Given the description of an element on the screen output the (x, y) to click on. 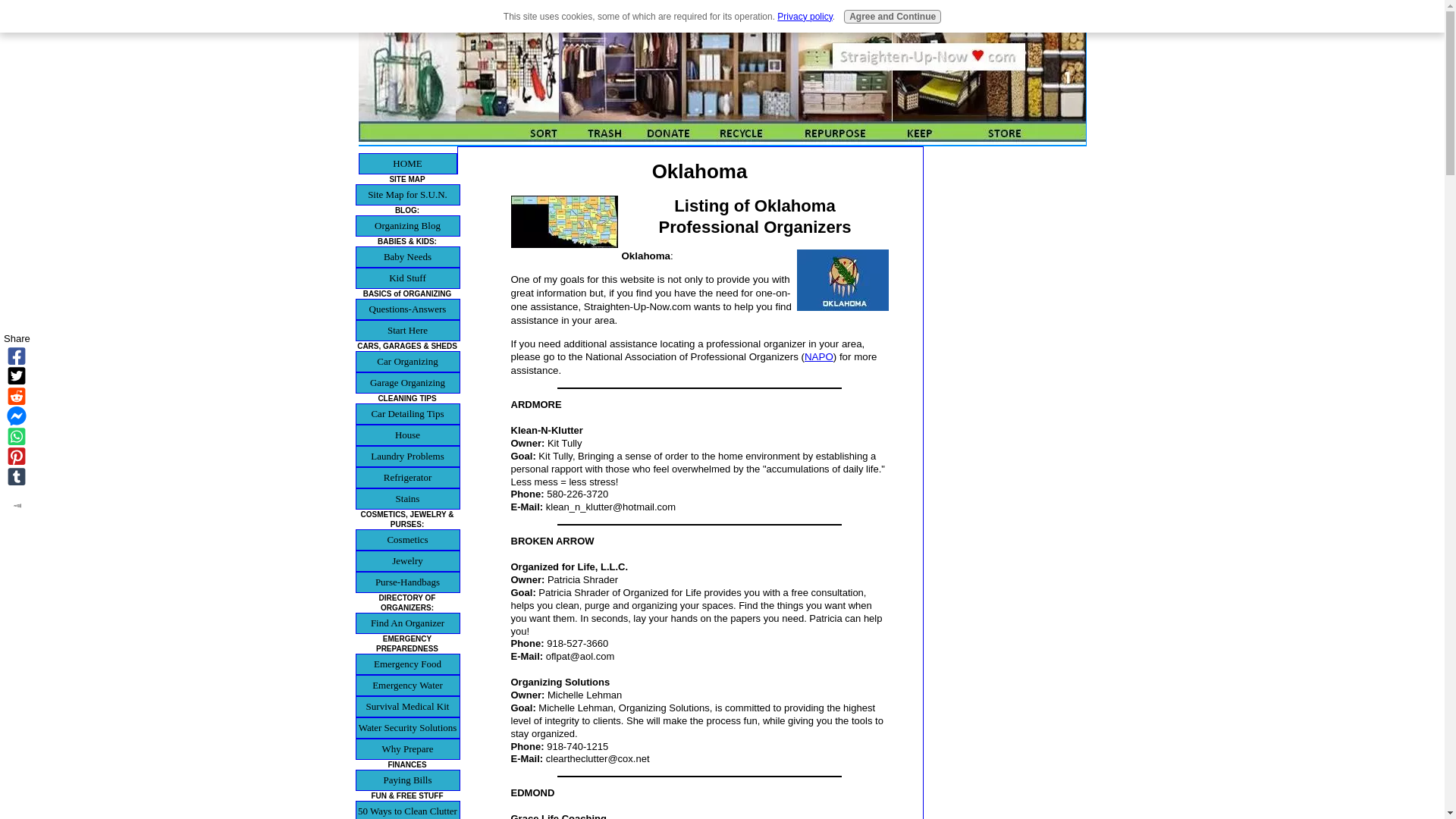
Oklahoma 1 (564, 221)
NAPO (818, 356)
Oklahoma 2 (842, 280)
